Given the description of an element on the screen output the (x, y) to click on. 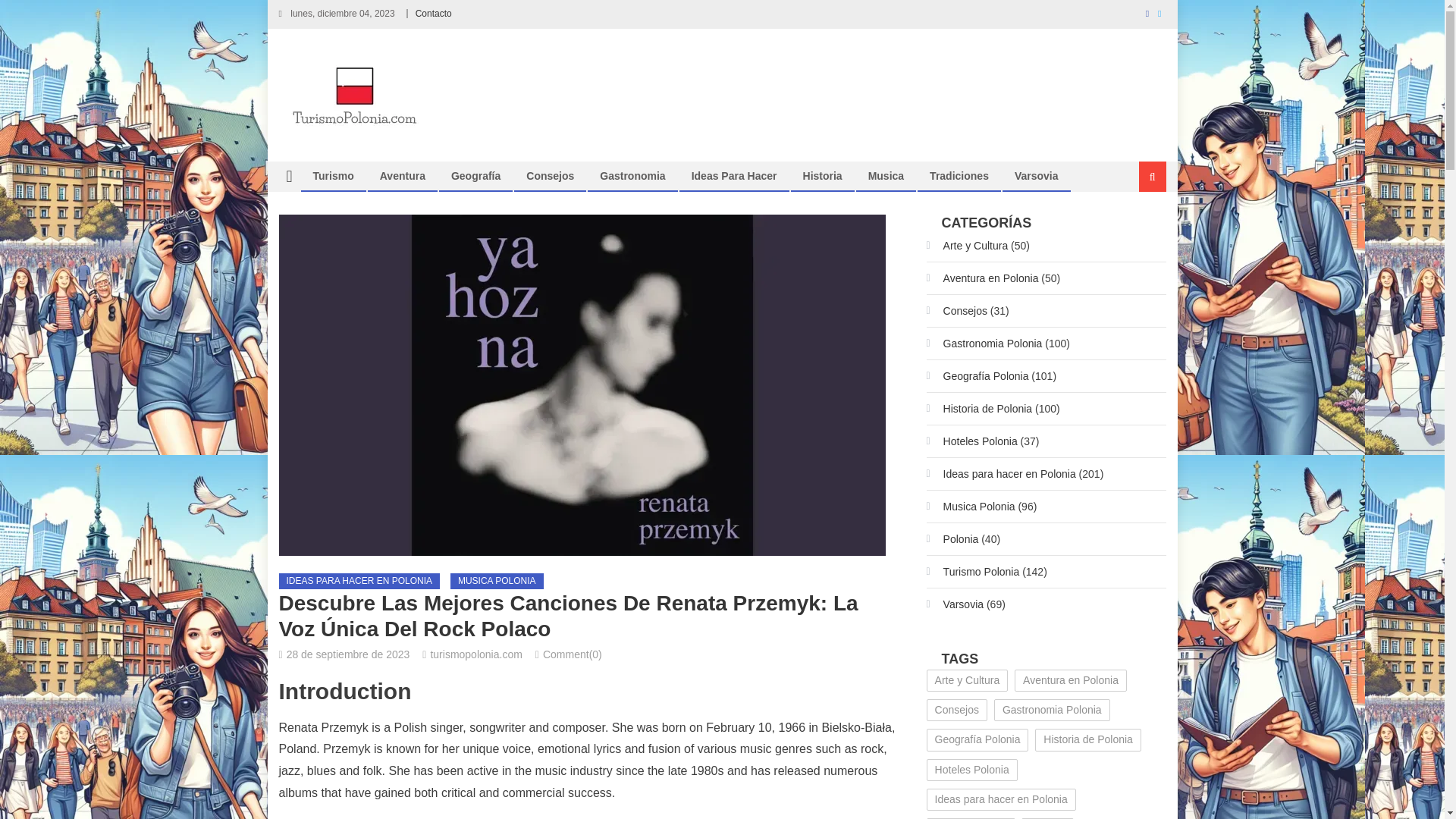
Turismo (333, 175)
Consejos (550, 175)
MUSICA POLONIA (496, 581)
Ideas Para Hacer (734, 175)
Gastronomia (632, 175)
Varsovia (1036, 175)
Tradiciones (959, 175)
Historia (822, 175)
Aventura (402, 175)
28 de septiembre de 2023 (348, 654)
Musica (886, 175)
Buscar (1133, 226)
IDEAS PARA HACER EN POLONIA (360, 581)
turismopolonia.com (475, 654)
Contacto (432, 13)
